Given the description of an element on the screen output the (x, y) to click on. 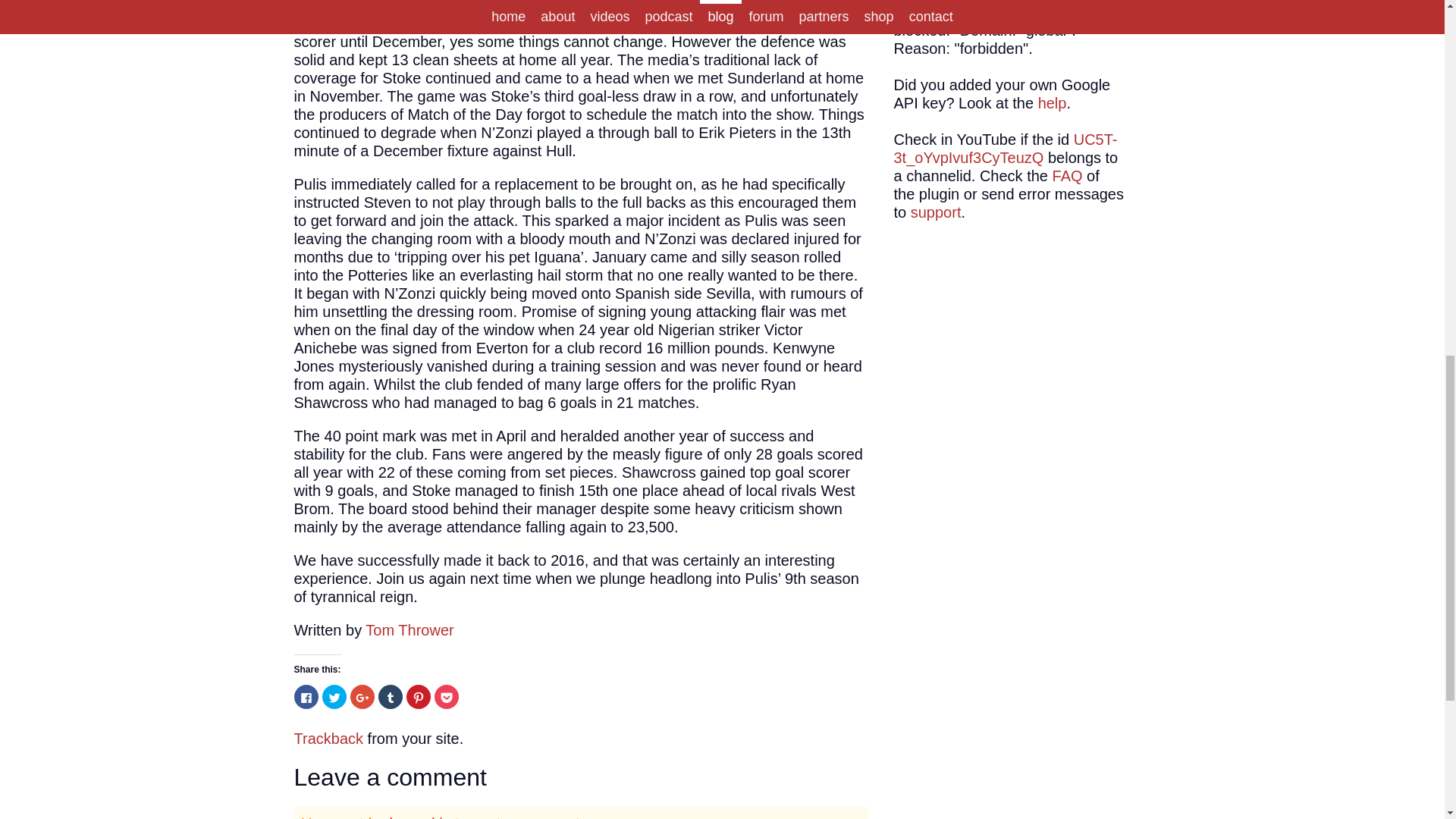
Click to share on Facebook (306, 696)
Trackback (329, 738)
Click to share on Twitter (333, 696)
Tom Thrower (408, 629)
support (935, 211)
Click to share on Pinterest (418, 696)
logged in (420, 816)
FAQ (1067, 175)
Click to share on Tumblr (389, 696)
Click to share on Pocket (445, 696)
